Given the description of an element on the screen output the (x, y) to click on. 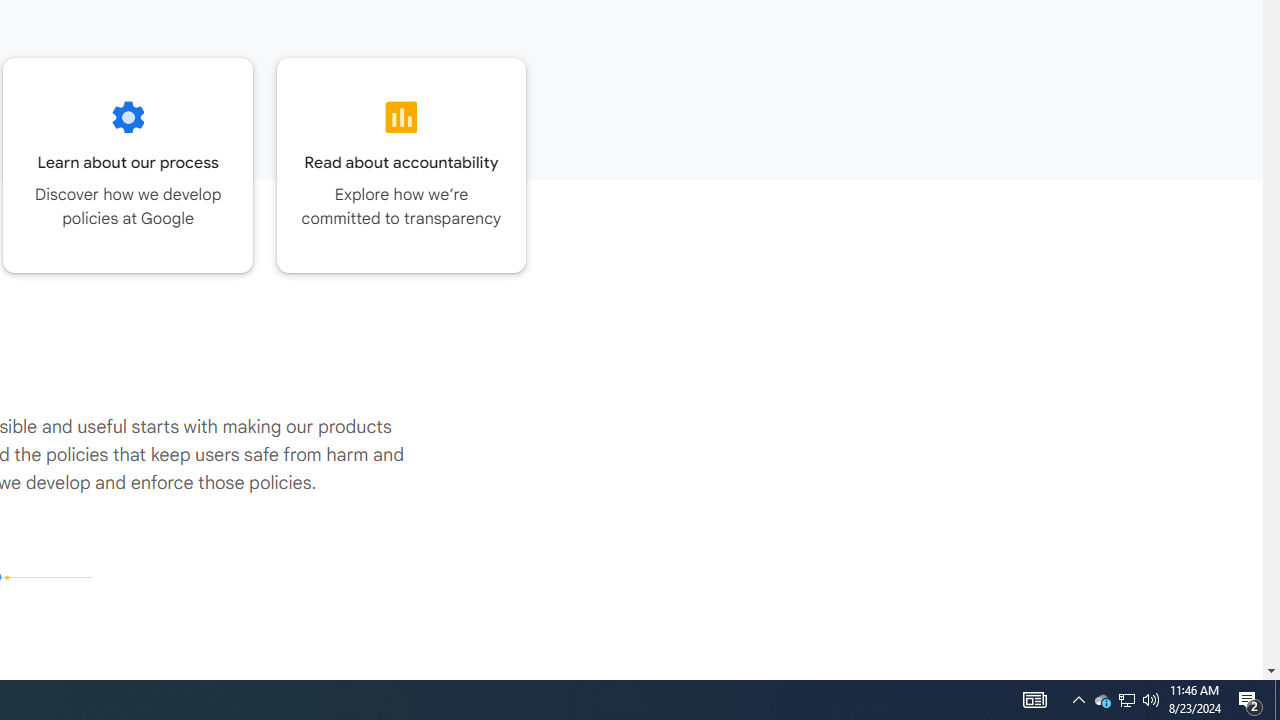
Go to the Our process page (127, 165)
Go to the Accountability page (401, 165)
